Given the description of an element on the screen output the (x, y) to click on. 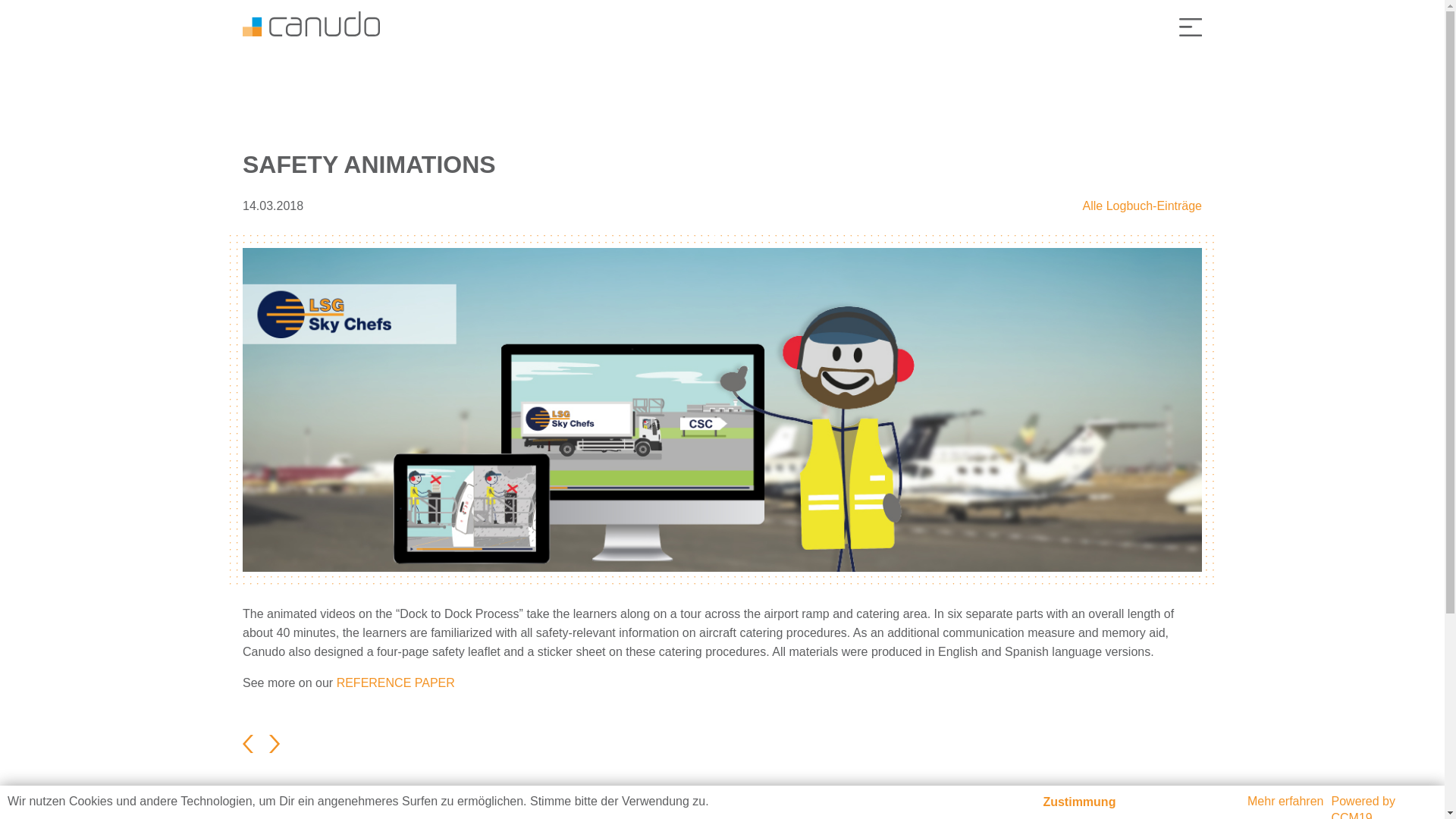
Powered by CCM19 (1364, 806)
REFERENCE PAPER (395, 682)
Zustimmung (1078, 803)
Mehr erfahren (1285, 801)
